Given the description of an element on the screen output the (x, y) to click on. 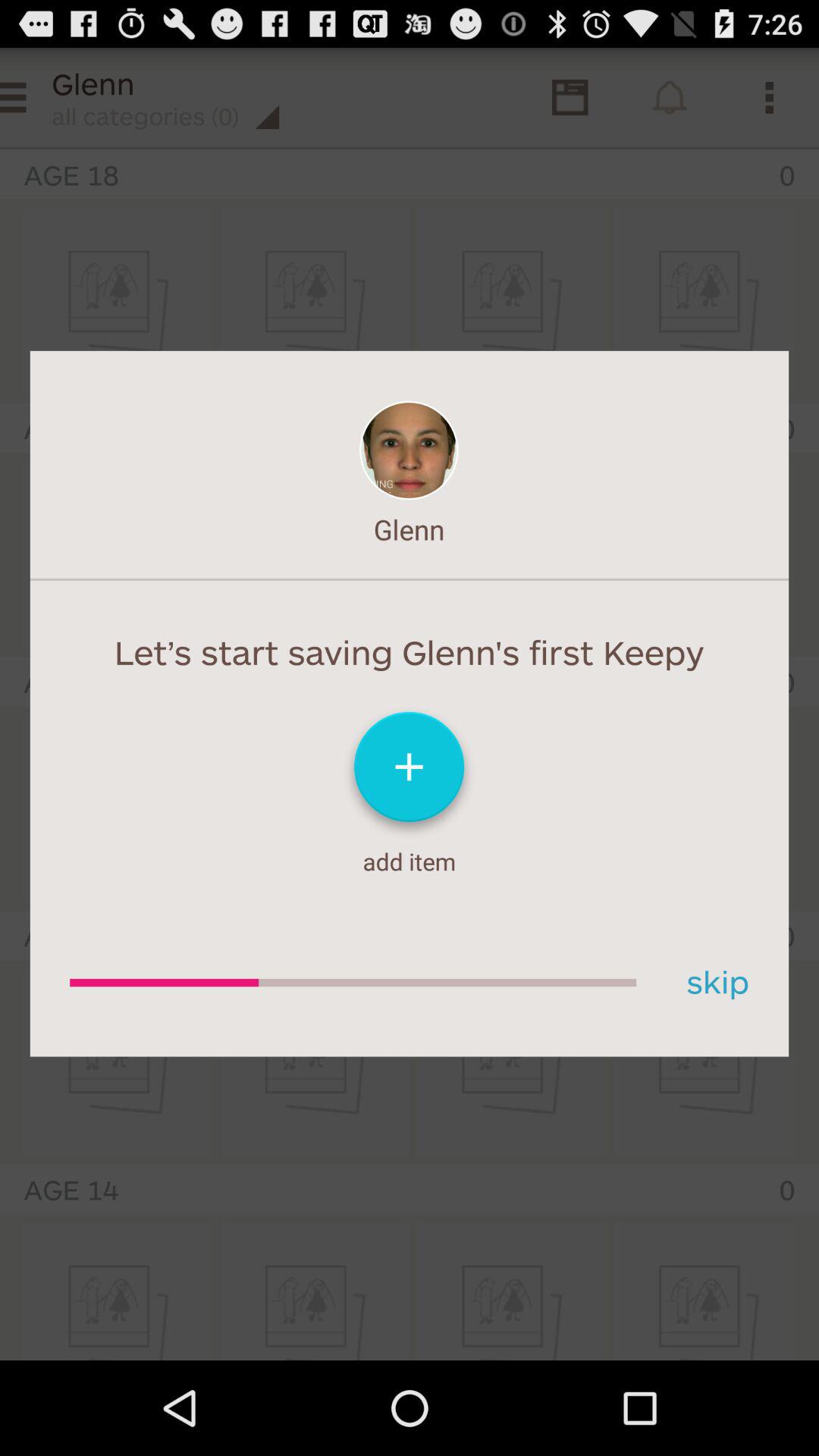
flip to the skip app (712, 982)
